Given the description of an element on the screen output the (x, y) to click on. 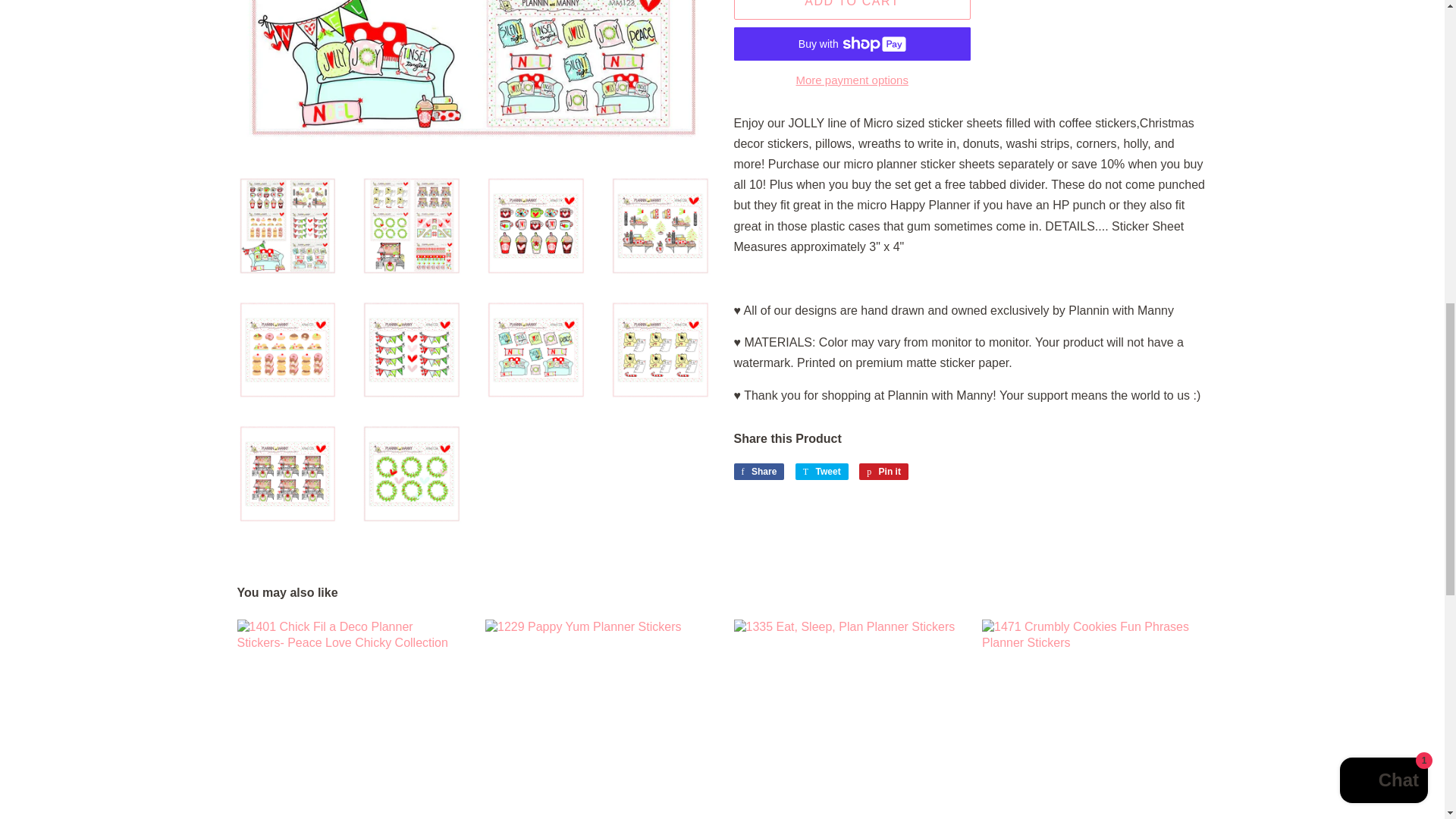
Share on Facebook (758, 471)
Pin on Pinterest (883, 471)
Tweet on Twitter (821, 471)
